Given the description of an element on the screen output the (x, y) to click on. 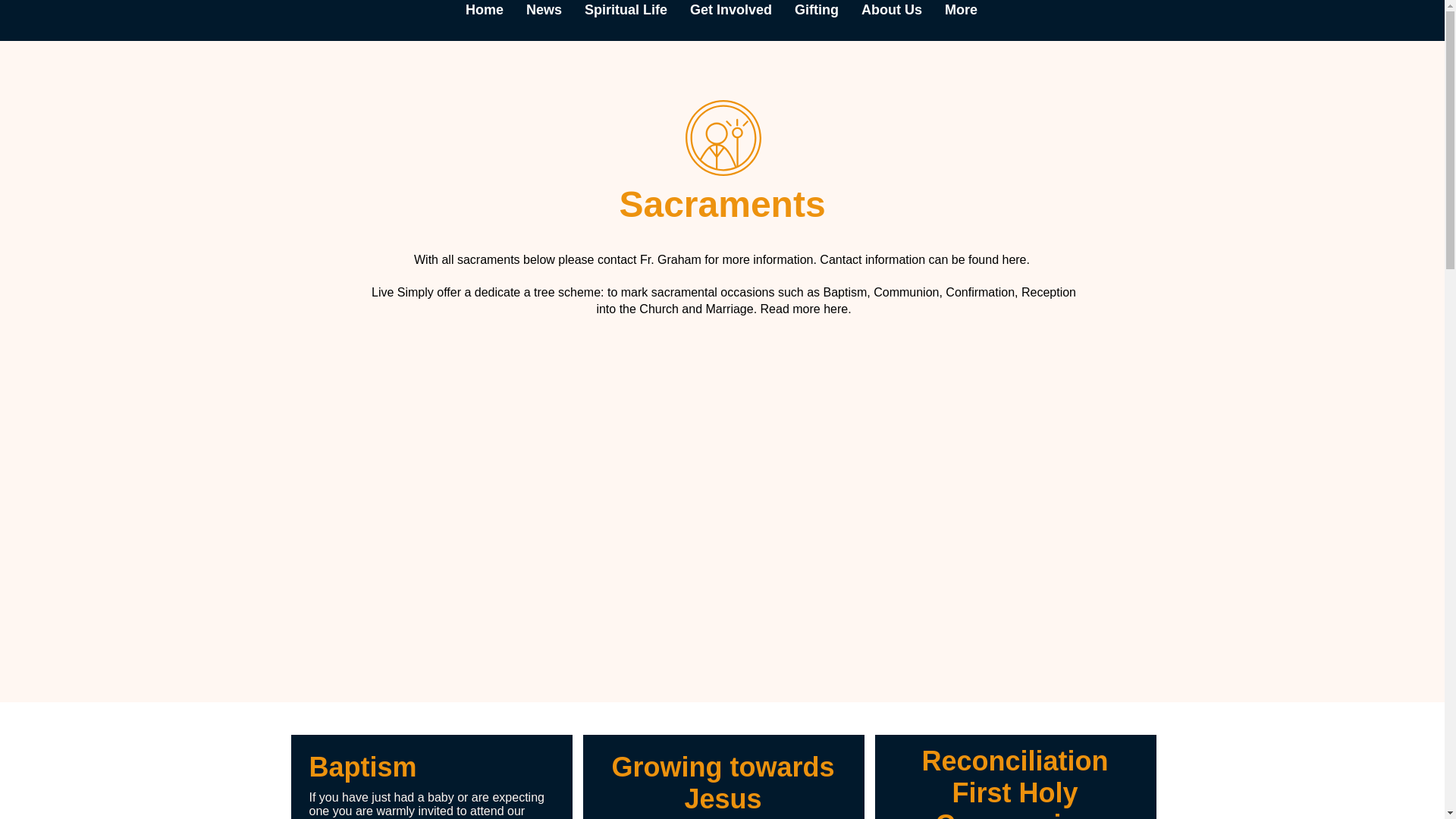
Home (484, 15)
here. (837, 308)
here (1013, 259)
